Given the description of an element on the screen output the (x, y) to click on. 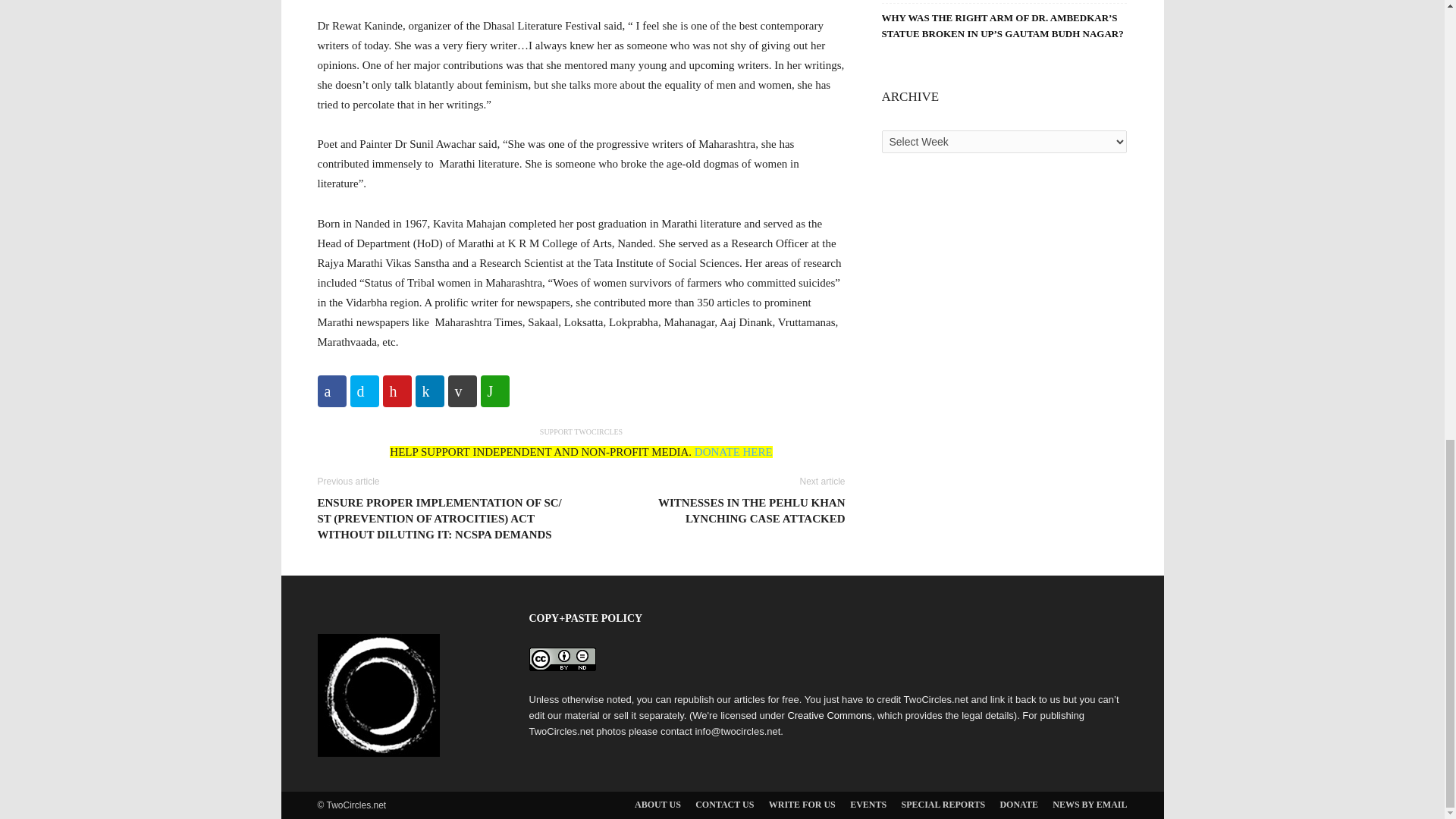
Share on LinkedIn (429, 391)
Share on Pinterest (395, 391)
Share on Email (461, 391)
Share on Twitter (364, 391)
Share on WhatsApp (494, 391)
Share on Facebook (331, 391)
